Given the description of an element on the screen output the (x, y) to click on. 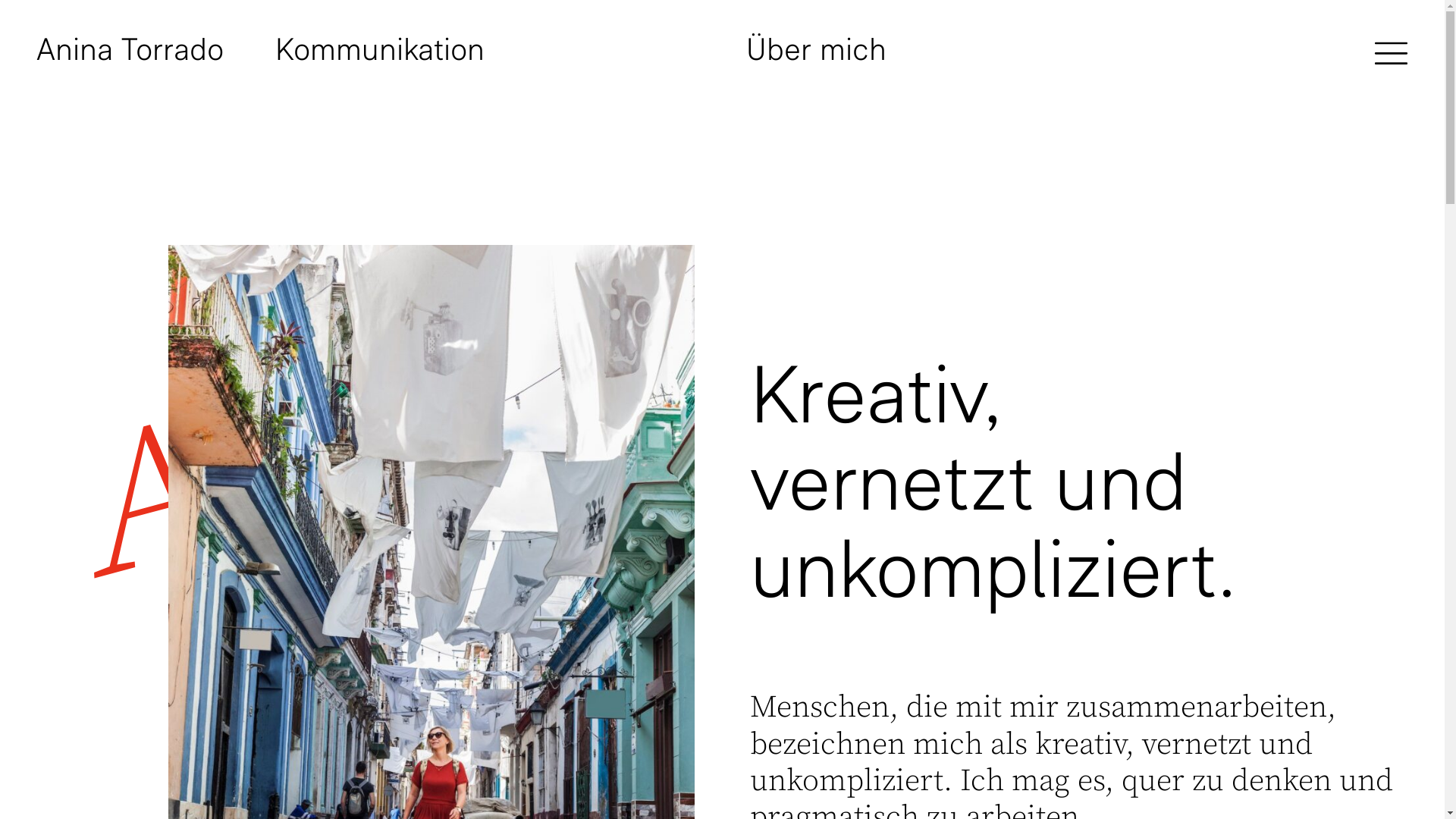
Anina Torrado
Kommunikation Element type: text (129, 48)
